Given the description of an element on the screen output the (x, y) to click on. 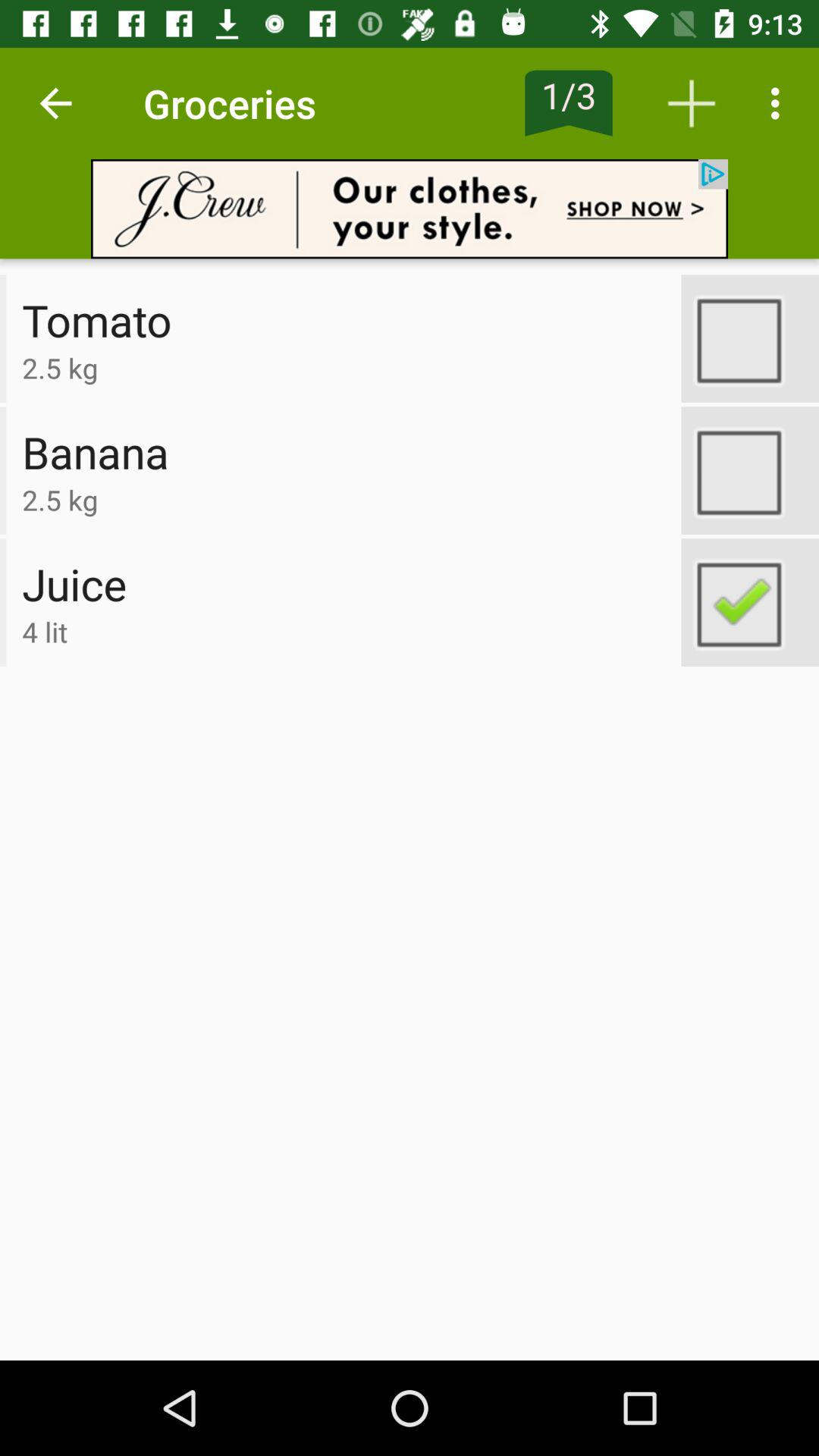
tick off item (750, 470)
